Given the description of an element on the screen output the (x, y) to click on. 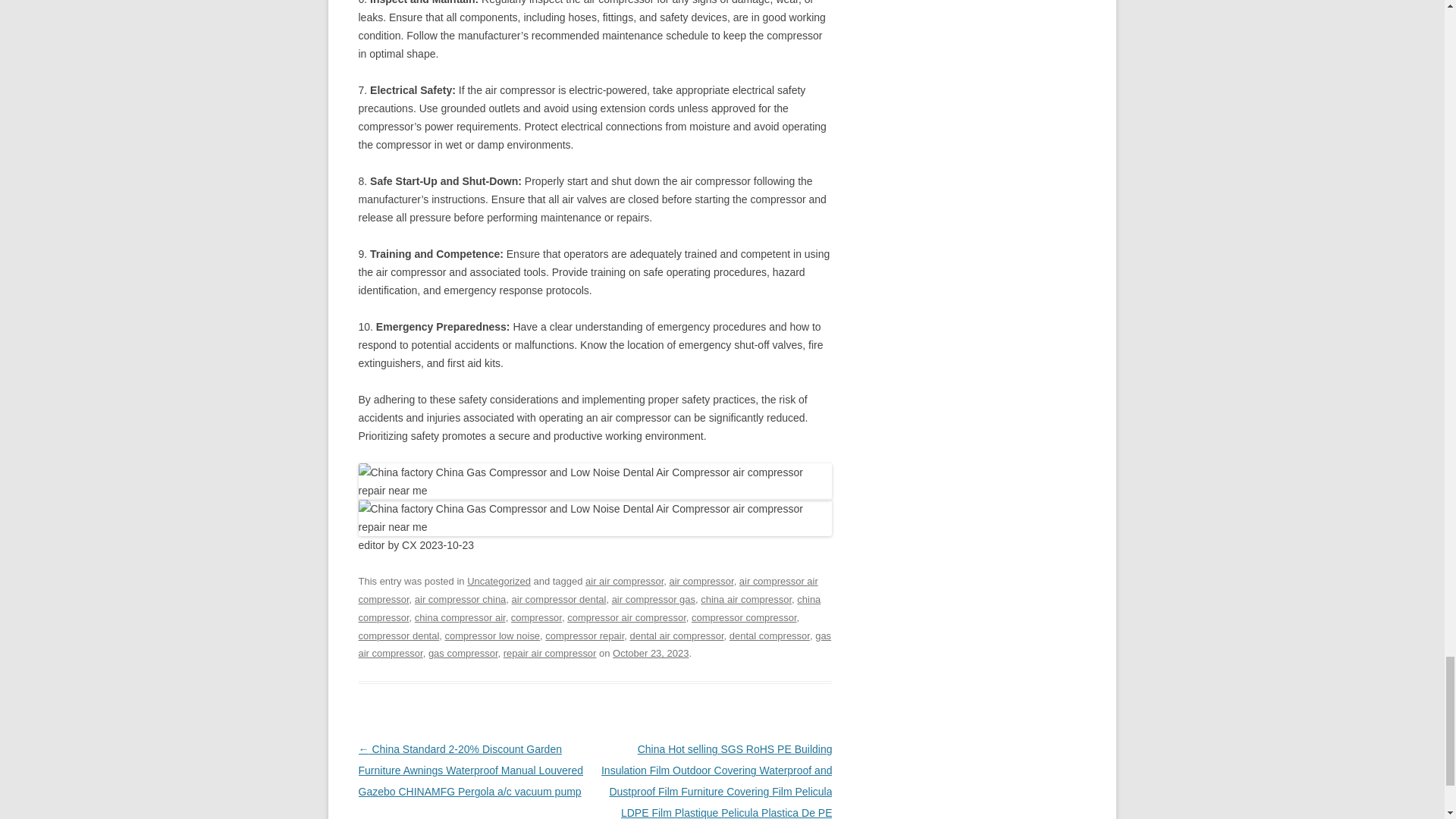
gas air compressor (594, 644)
china air compressor (746, 599)
air compressor air compressor (587, 590)
compressor air compressor (626, 617)
compressor repair (584, 634)
gas compressor (462, 653)
compressor dental (398, 634)
dental air compressor (675, 634)
air compressor china (460, 599)
air compressor (700, 581)
